Given the description of an element on the screen output the (x, y) to click on. 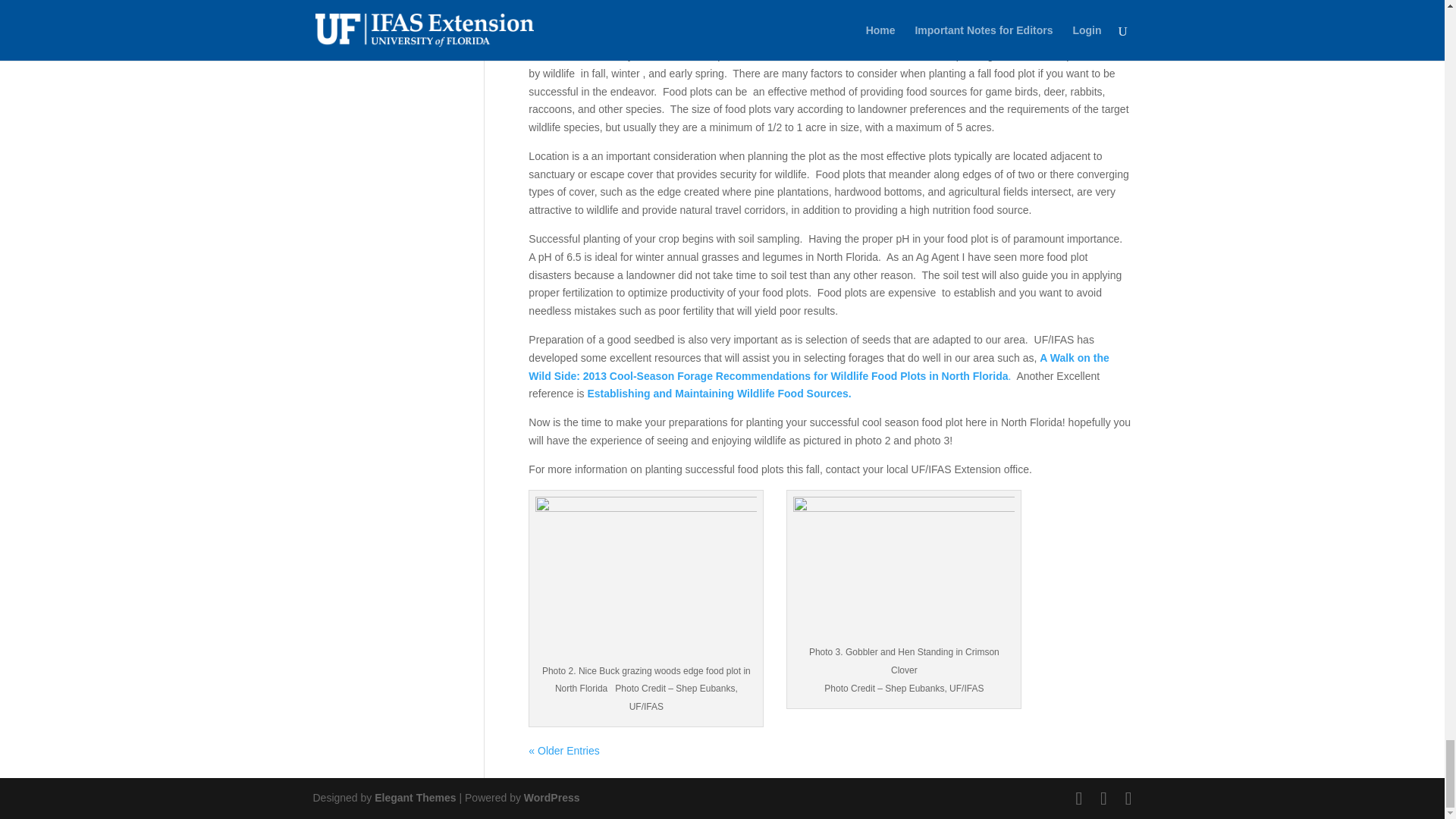
Premium WordPress Themes (414, 797)
